Given the description of an element on the screen output the (x, y) to click on. 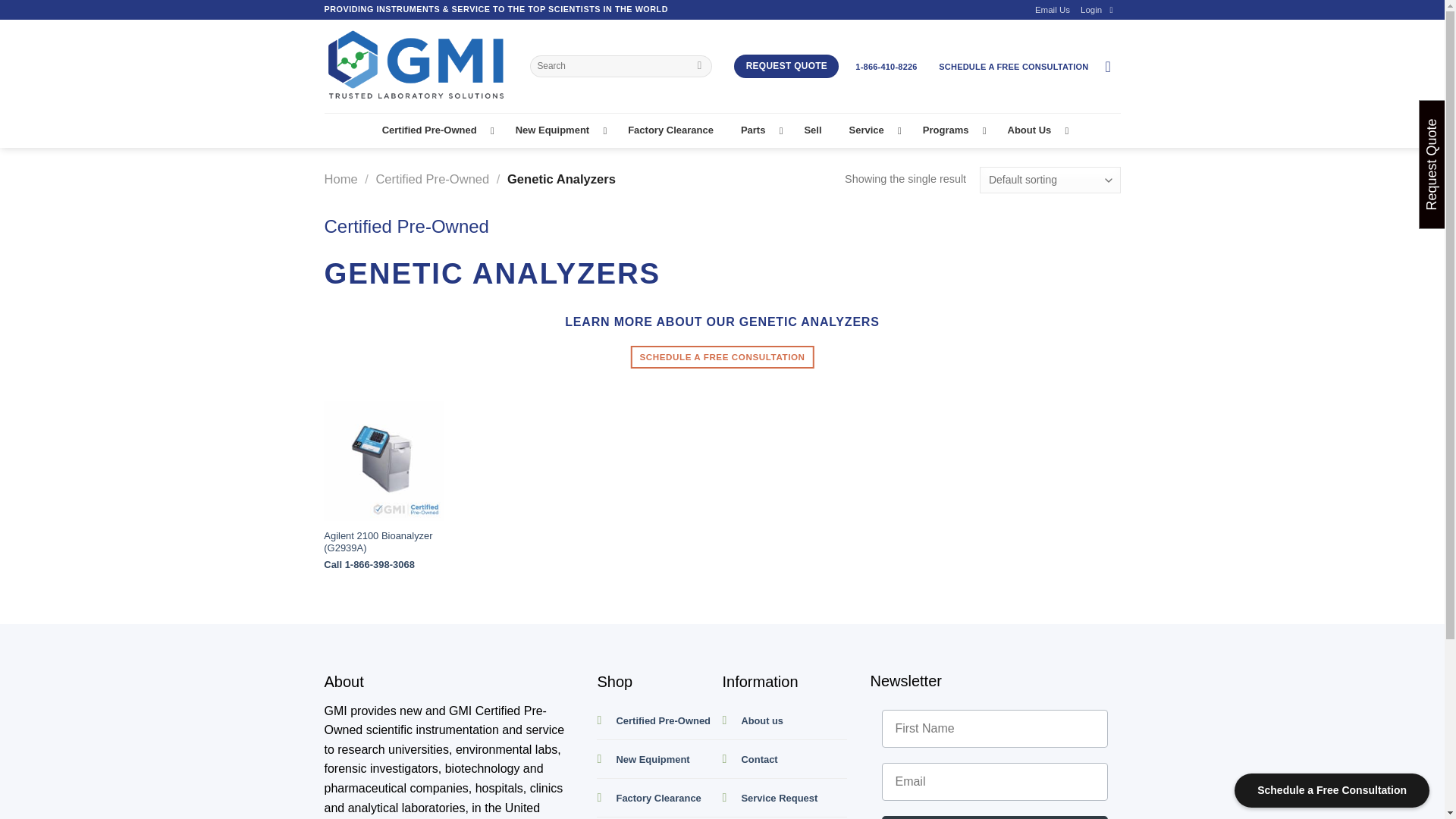
Follow on LinkedIn (1113, 9)
Login (1091, 9)
  SCHEDULE A FREE CONSULTATION (1011, 66)
Email Us (1052, 9)
Certified Pre-Owned (435, 130)
REQUEST QUOTE (785, 65)
1-866-410-8226 (886, 66)
